Given the description of an element on the screen output the (x, y) to click on. 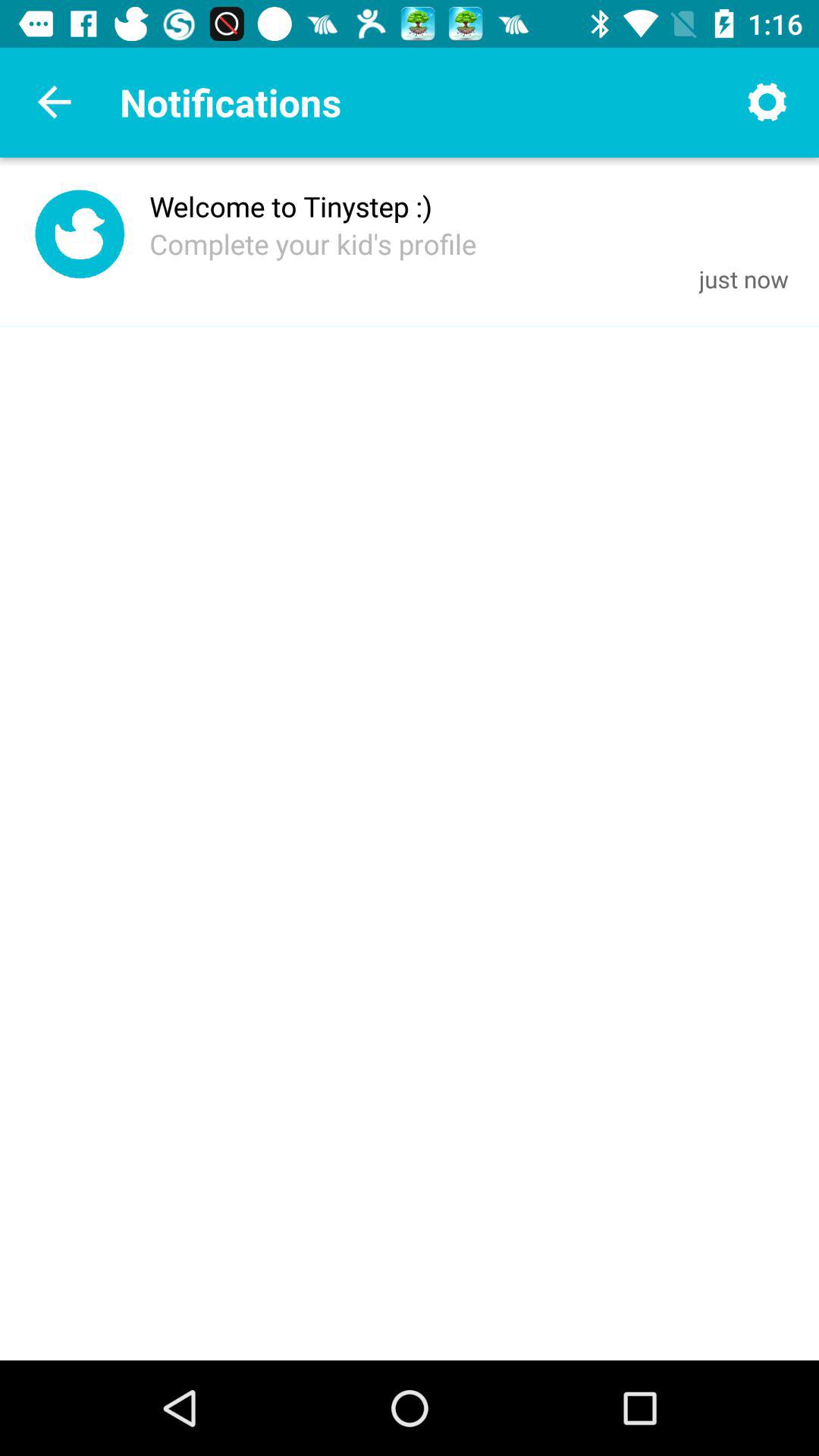
jump until welcome to tinystep :) (290, 206)
